Given the description of an element on the screen output the (x, y) to click on. 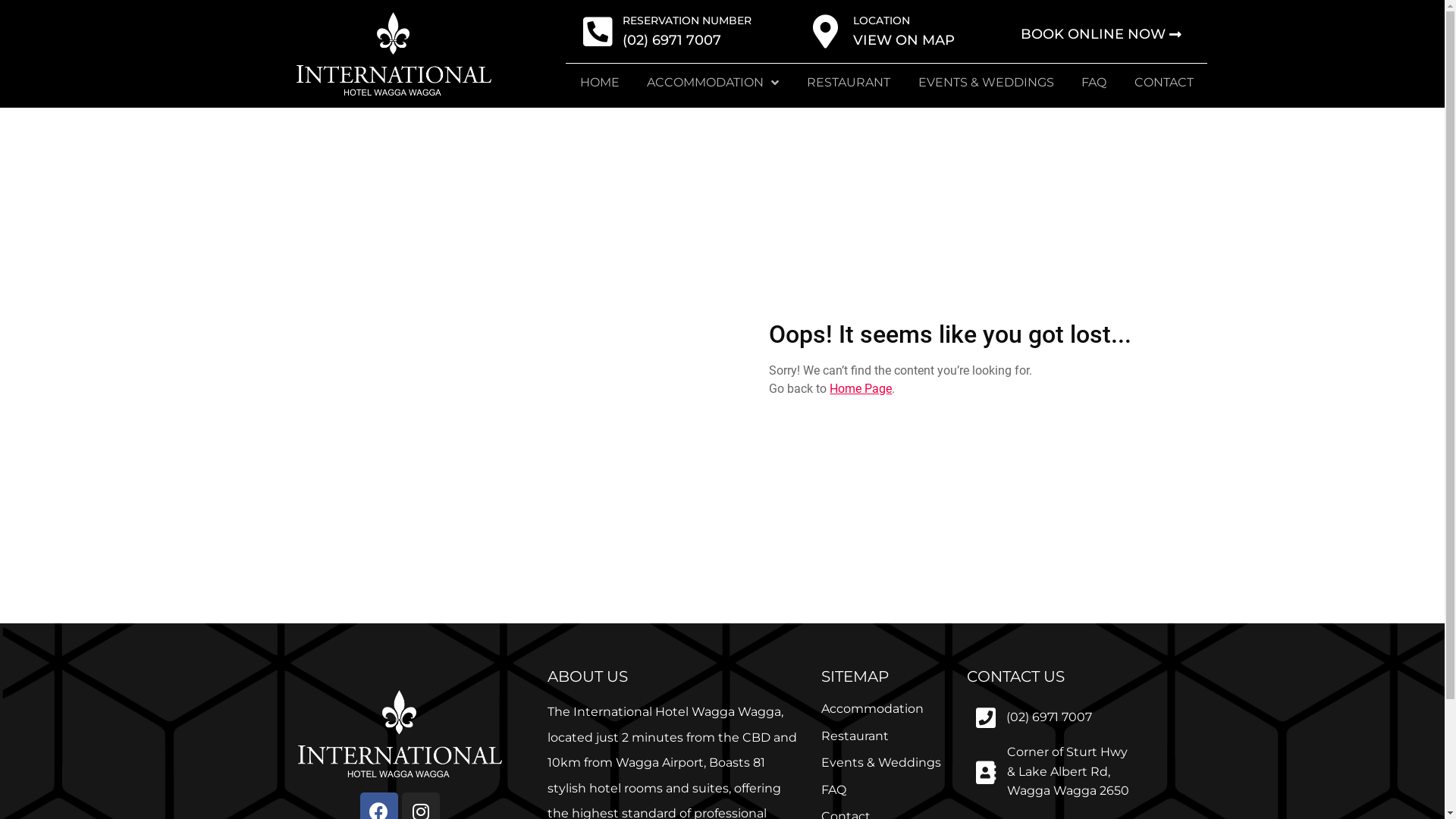
HOME Element type: text (599, 82)
Accommodation Element type: text (872, 708)
FAQ Element type: text (833, 789)
Events & Weddings Element type: text (881, 762)
Home Page Element type: text (860, 388)
CONTACT Element type: text (1164, 82)
EVENTS & WEDDINGS Element type: text (985, 82)
Restaurant Element type: text (854, 735)
(02) 6971 7007 Element type: text (1049, 716)
ACCOMMODATION Element type: text (713, 82)
RESTAURANT Element type: text (848, 82)
FAQ Element type: text (1093, 82)
BOOK ONLINE NOW Element type: text (1100, 34)
